Given the description of an element on the screen output the (x, y) to click on. 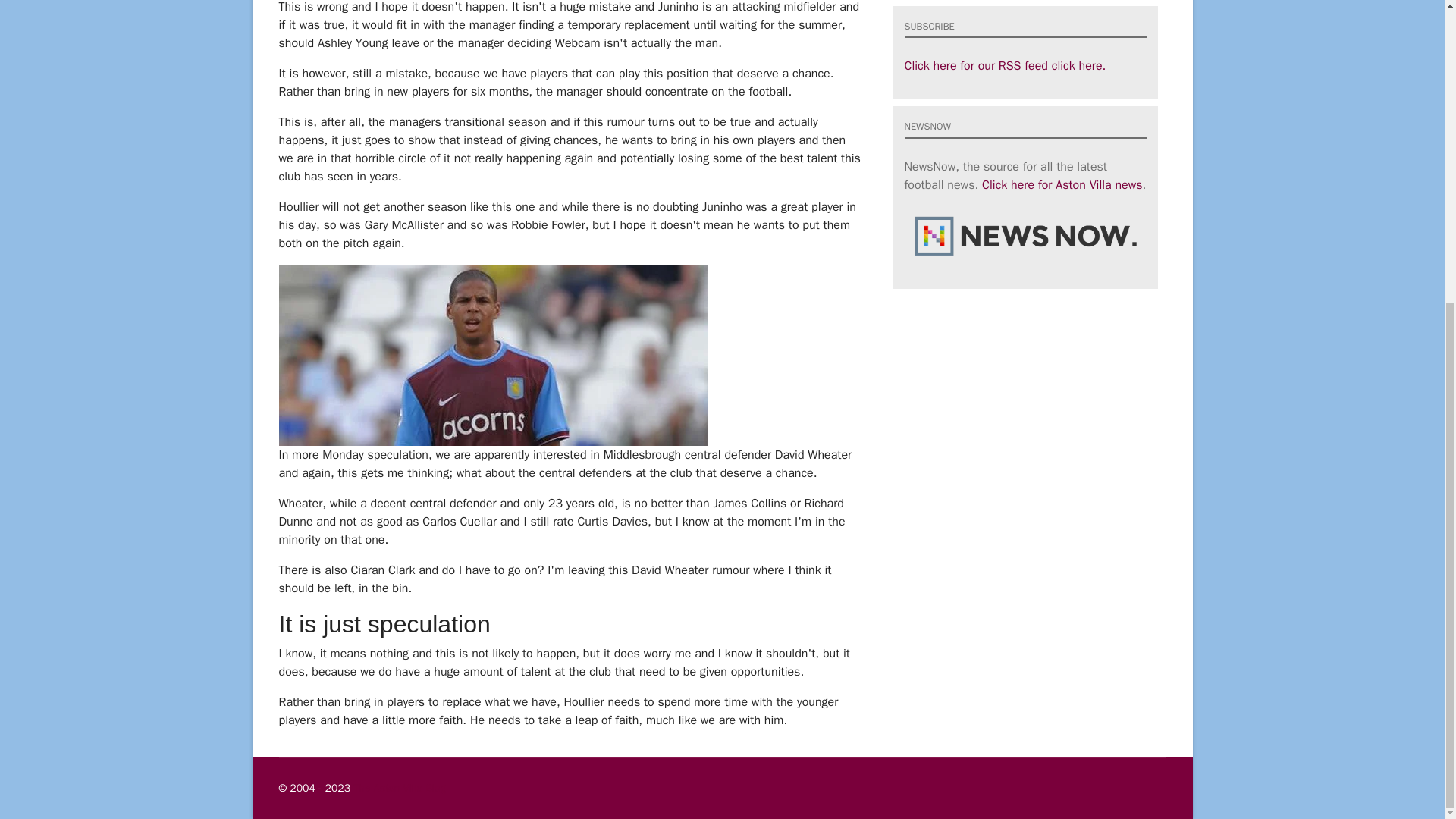
Curtis Davies can still do a job for Aston Villa (493, 354)
The Aston Villa Blog (399, 788)
Click here for Aston Villa news (1061, 184)
Aston Villa AVFC Blog (399, 788)
Click here for our RSS feed click here. (1004, 65)
